Given the description of an element on the screen output the (x, y) to click on. 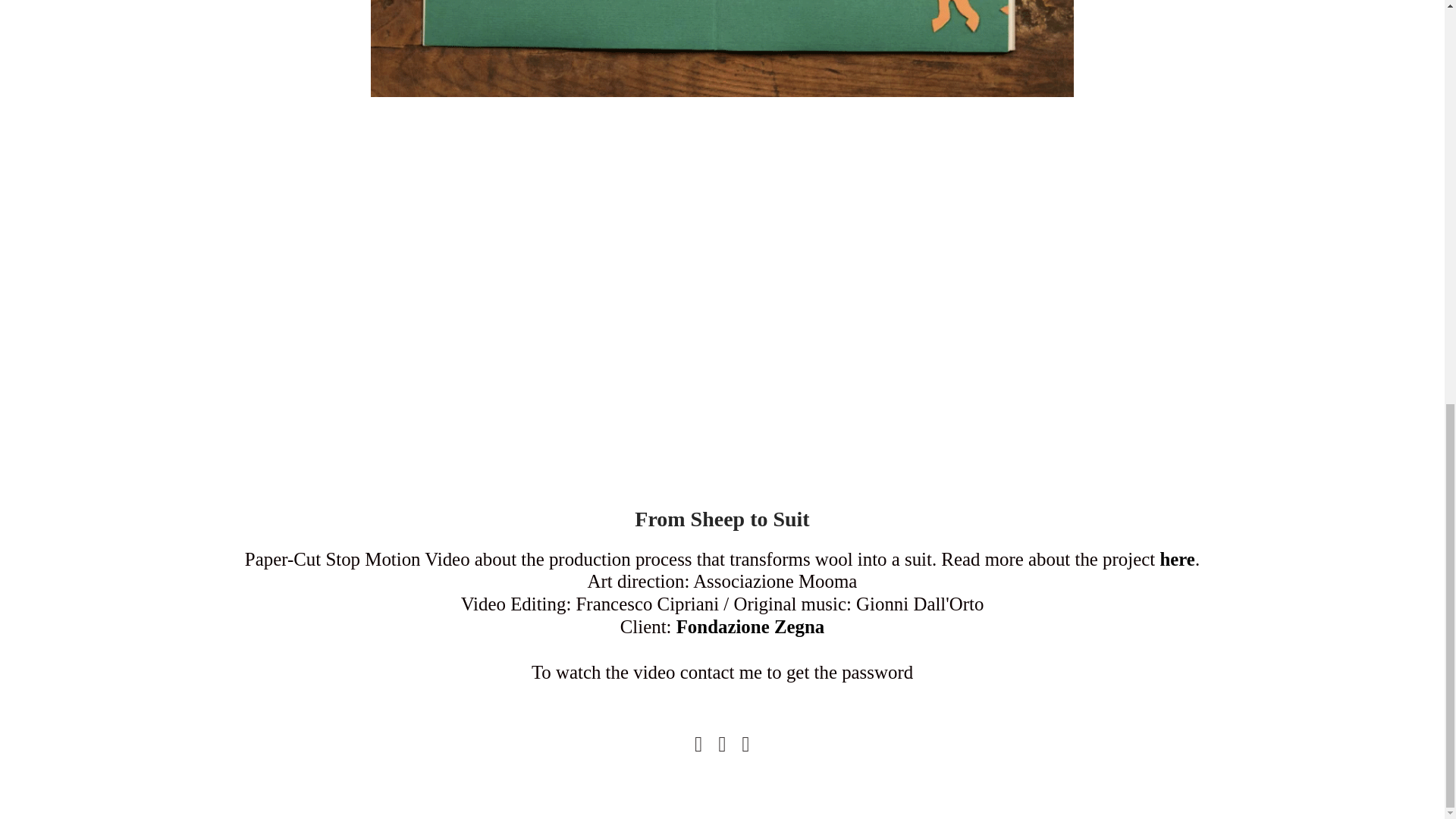
Fondazione Zegna (751, 627)
here (1176, 559)
